Given the description of an element on the screen output the (x, y) to click on. 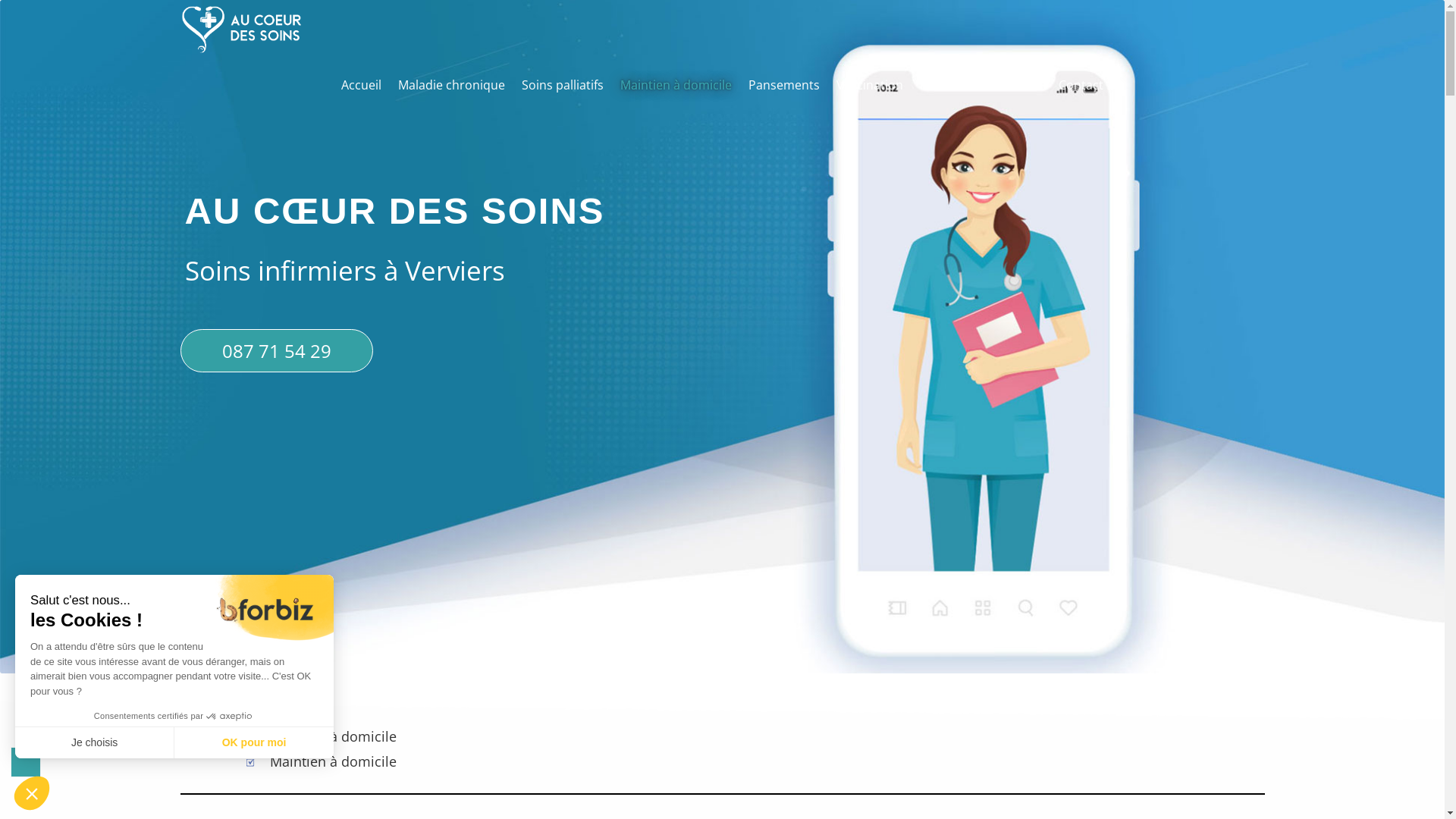
087 71 54 29 Element type: text (276, 350)
Contact Element type: text (1080, 84)
Accueil Element type: text (361, 84)
Close the widget without accepting cookie settings Element type: hover (31, 793)
Je choisis Element type: text (94, 742)
Scroll to top Element type: hover (25, 761)
Vaccination Element type: text (869, 84)
Pansements Element type: text (783, 84)
OK pour moi Element type: text (253, 742)
Soins palliatifs Element type: text (562, 84)
Maladie chronique Element type: text (451, 84)
